Given the description of an element on the screen output the (x, y) to click on. 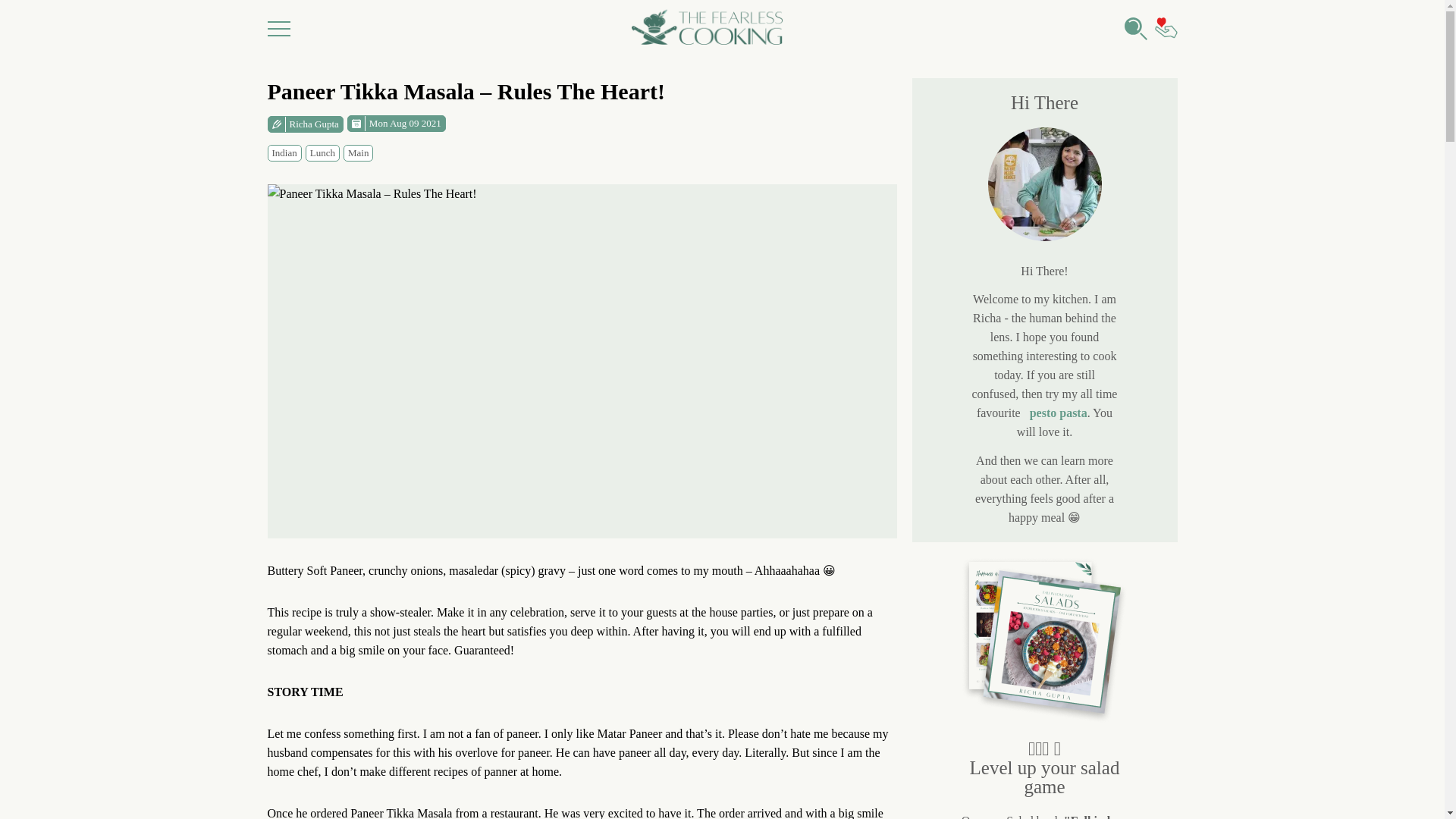
Lunch (322, 151)
Indian (283, 151)
Main (357, 151)
Richa Gupta (304, 122)
pesto pasta (1058, 412)
